Given the description of an element on the screen output the (x, y) to click on. 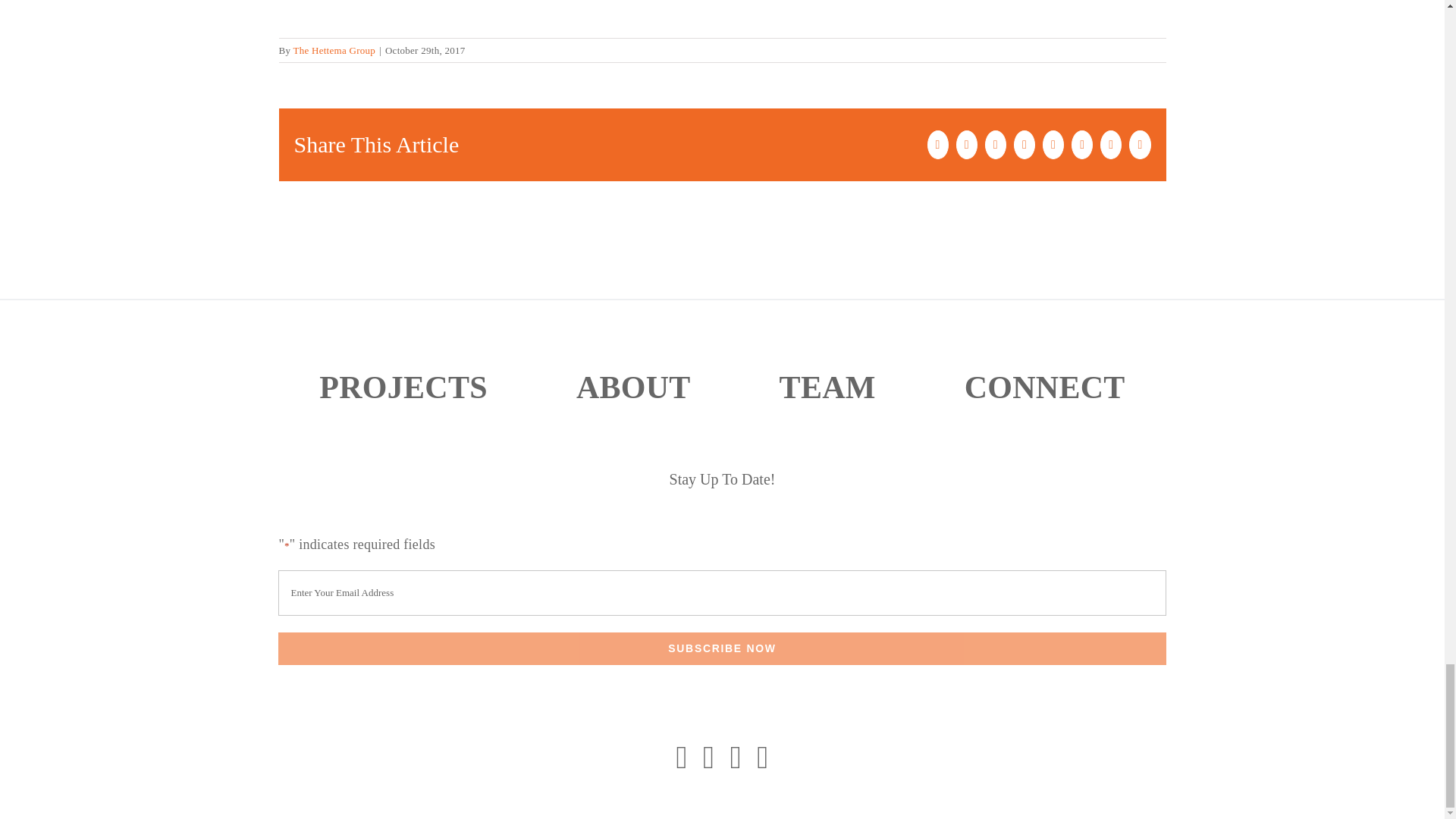
Posts by The Hettema Group (333, 50)
The Hettema Group (333, 50)
PROJECTS (402, 388)
CONNECT (1044, 388)
ABOUT (633, 388)
TEAM (827, 388)
SUBSCRIBE NOW (722, 648)
SUBSCRIBE NOW (722, 648)
